Given the description of an element on the screen output the (x, y) to click on. 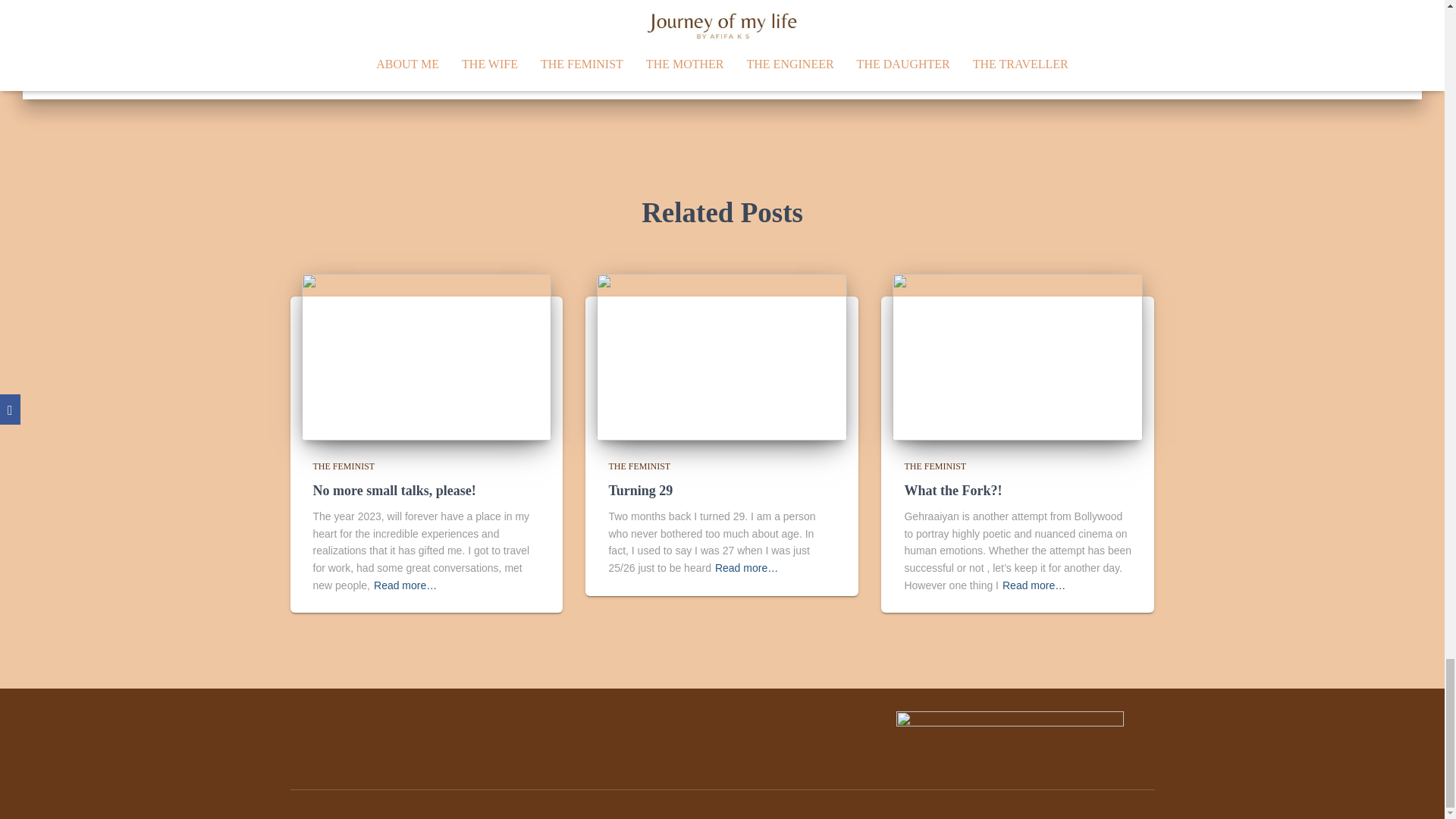
THE FEMINIST (935, 466)
What the Fork?! (952, 490)
THE FEMINIST (638, 466)
THE FEMINIST (343, 466)
View all posts in The Feminist (343, 466)
No more small talks, please! (394, 490)
View all posts in The Feminist (638, 466)
Turning 29 (721, 355)
No more small talks, please! (394, 490)
FACEBOOK (307, 729)
